Given the description of an element on the screen output the (x, y) to click on. 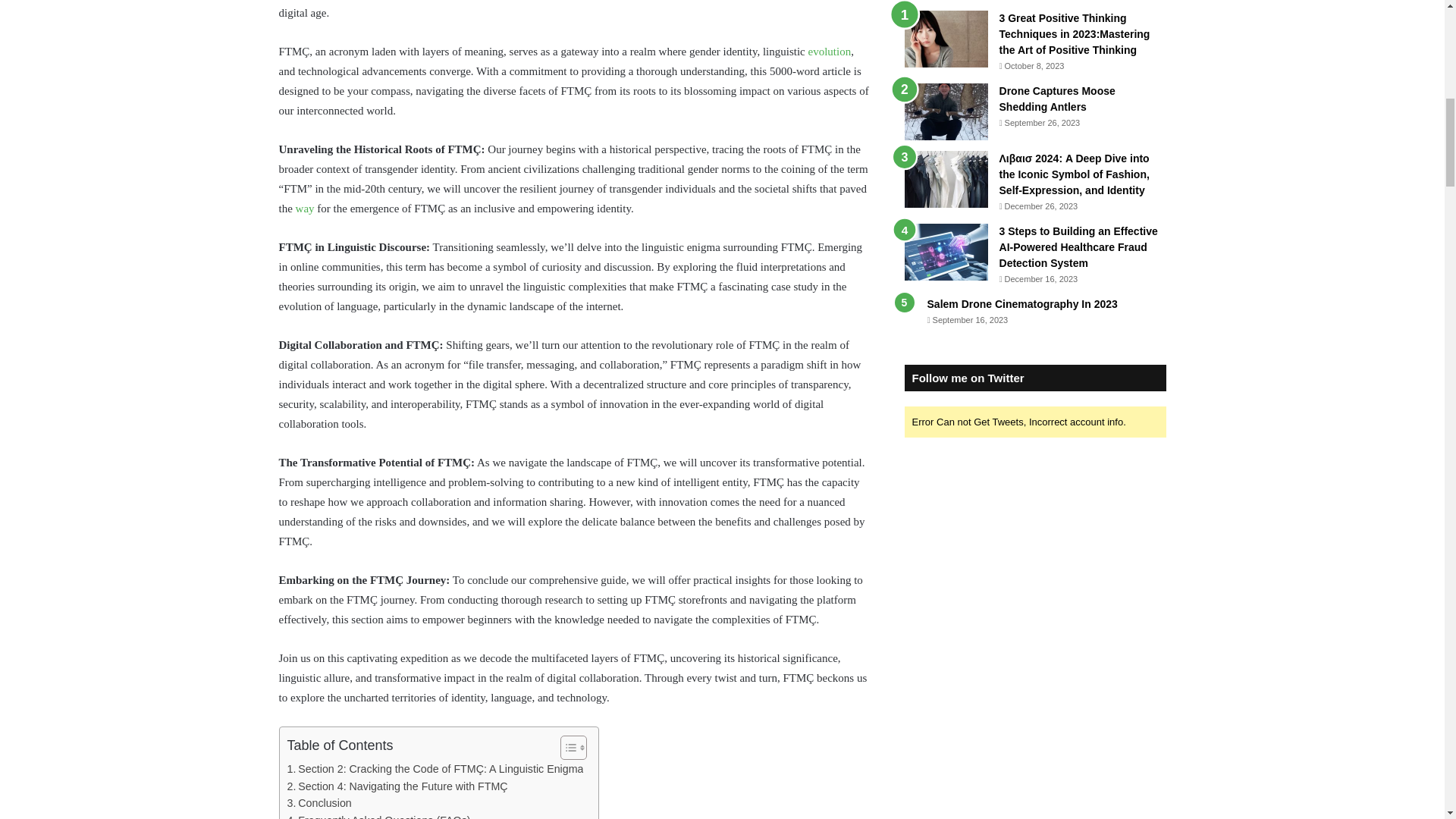
Conclusion (318, 803)
evolution (829, 51)
way (304, 208)
Conclusion (318, 803)
